Given the description of an element on the screen output the (x, y) to click on. 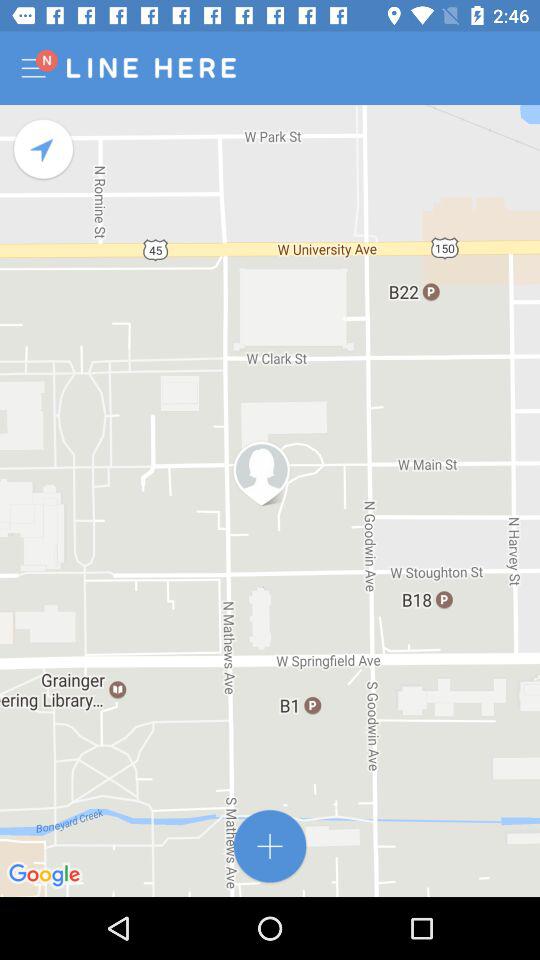
rotates the map (44, 149)
